Given the description of an element on the screen output the (x, y) to click on. 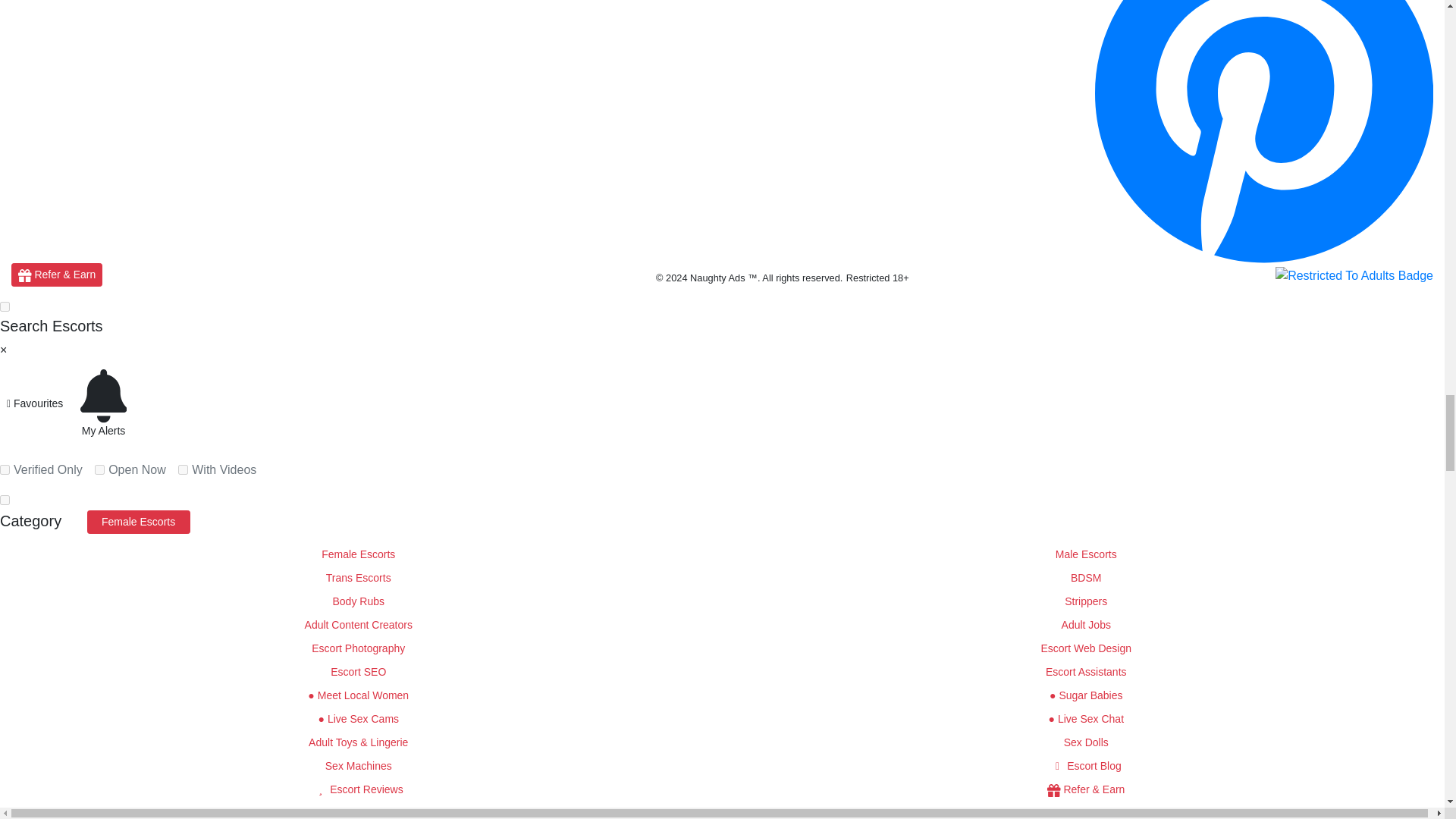
on (5, 470)
on (5, 500)
on (182, 470)
on (5, 307)
on (5, 500)
on (99, 470)
